Given the description of an element on the screen output the (x, y) to click on. 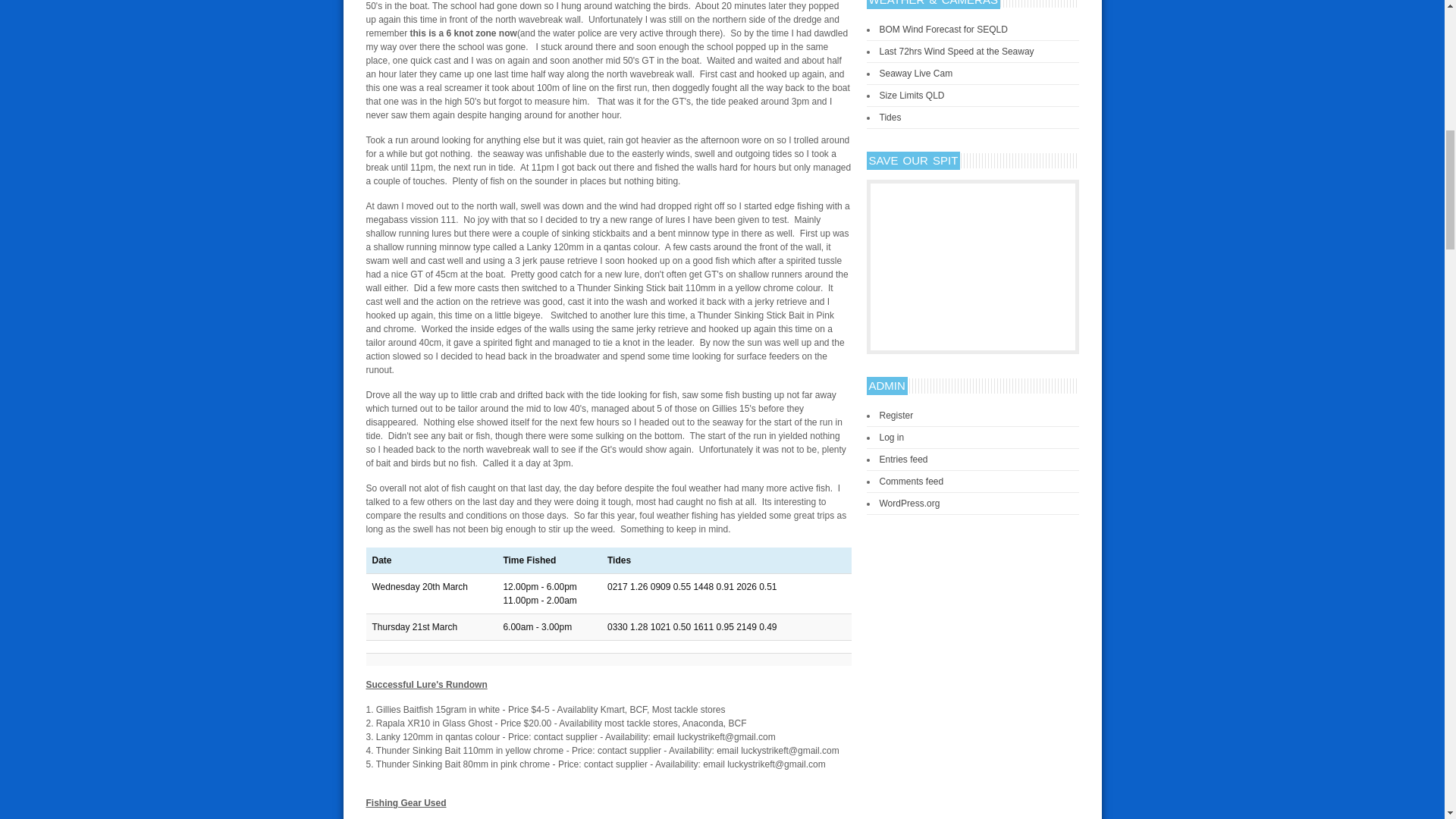
Constantly updated wind speed for the Gold Coast Seaway (956, 50)
Tides for Queensland (890, 117)
The Bureau of Meteorology current forecast for SEQLD waters. (943, 29)
Size and Possession limits for Queensland (911, 95)
